Given the description of an element on the screen output the (x, y) to click on. 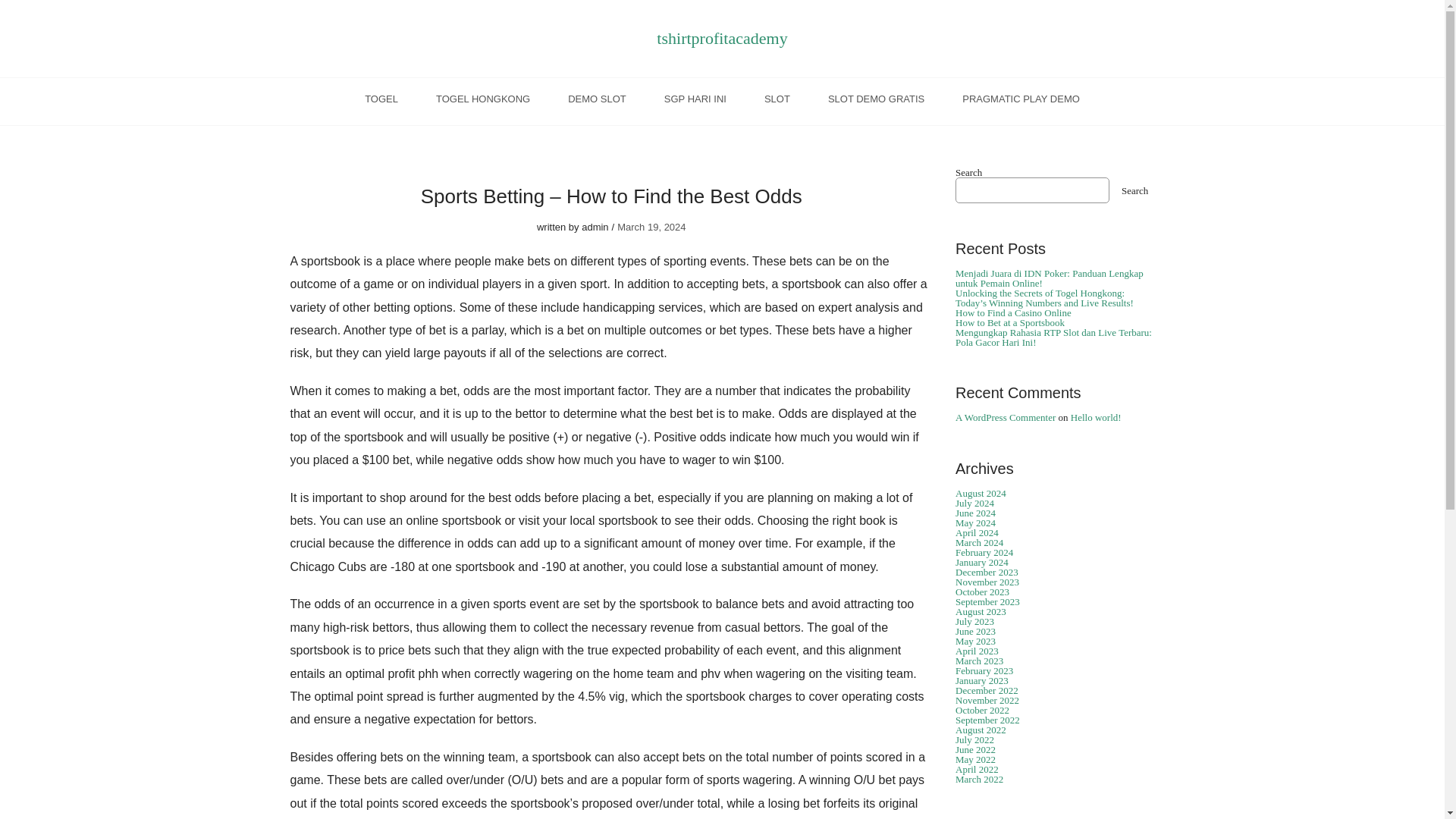
PRAGMATIC PLAY DEMO (1021, 101)
June 2023 (975, 631)
admin (594, 226)
tshirtprofitacademy (721, 38)
A WordPress Commenter (1005, 417)
July 2023 (974, 621)
September 2023 (987, 601)
April 2023 (976, 650)
tshirtprofitacademy (721, 38)
November 2023 (987, 582)
